Given the description of an element on the screen output the (x, y) to click on. 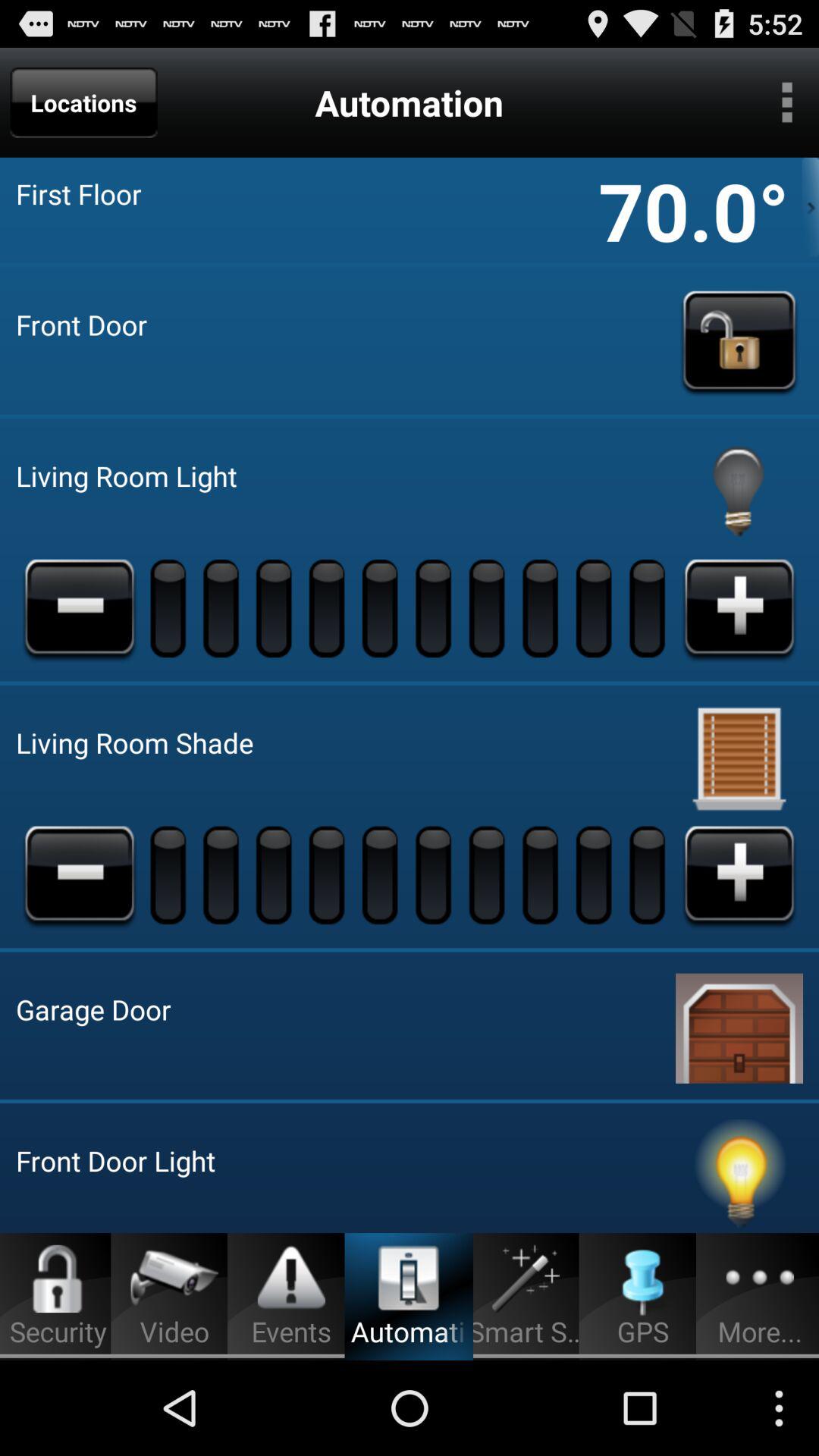
automate front door light (739, 1176)
